Given the description of an element on the screen output the (x, y) to click on. 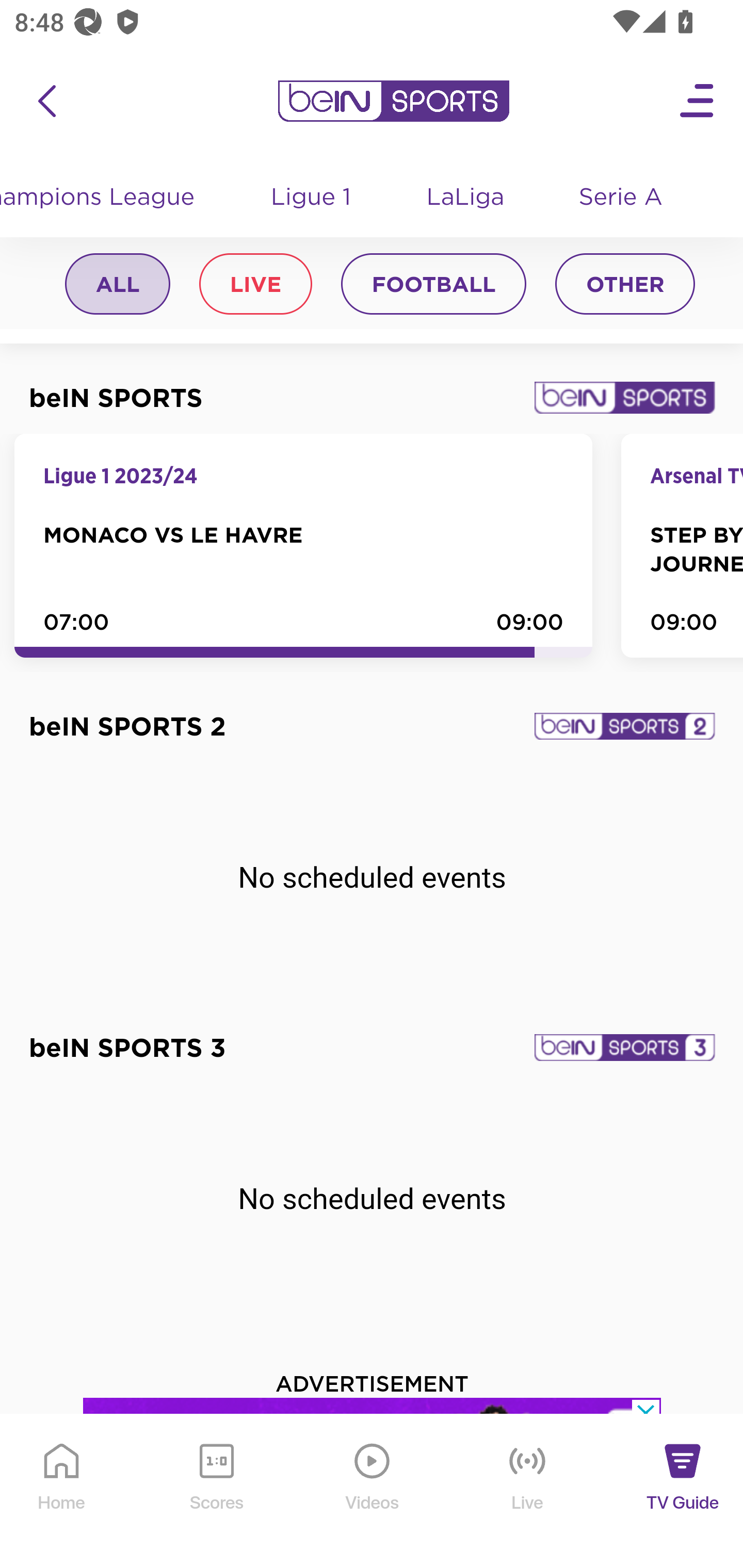
en-my?platform=mobile_android bein logo (392, 101)
icon back (46, 101)
Open Menu Icon (697, 101)
UEFA Champions League (107, 198)
Ligue 1 (312, 198)
LaLiga (466, 198)
Serie A (621, 198)
ALL (118, 286)
LIVE (255, 286)
FOOTBALL (433, 286)
OTHER (625, 286)
Home Home Icon Home (61, 1491)
Scores Scores Icon Scores (216, 1491)
Videos Videos Icon Videos (372, 1491)
TV Guide TV Guide Icon TV Guide (682, 1491)
